Given the description of an element on the screen output the (x, y) to click on. 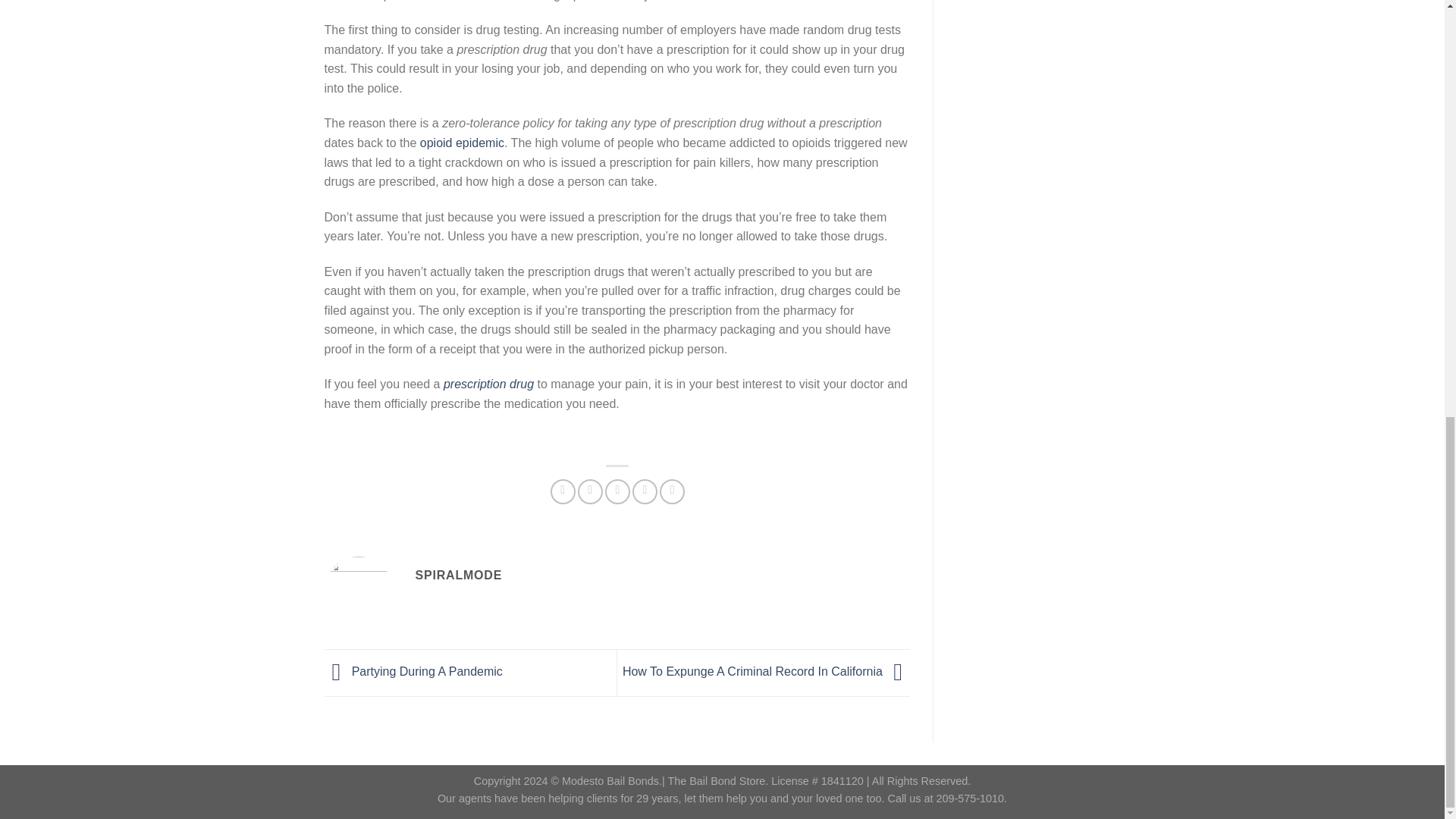
Commonly Broken California Laws (489, 383)
Share on Facebook (562, 491)
Email to a Friend (617, 491)
prescription drug (489, 383)
opioid epidemic (461, 142)
Share on Twitter (590, 491)
Share on LinkedIn (671, 491)
Partying During A Pandemic (413, 671)
Pin on Pinterest (644, 491)
How To Expunge A Criminal Record In California (766, 671)
